Given the description of an element on the screen output the (x, y) to click on. 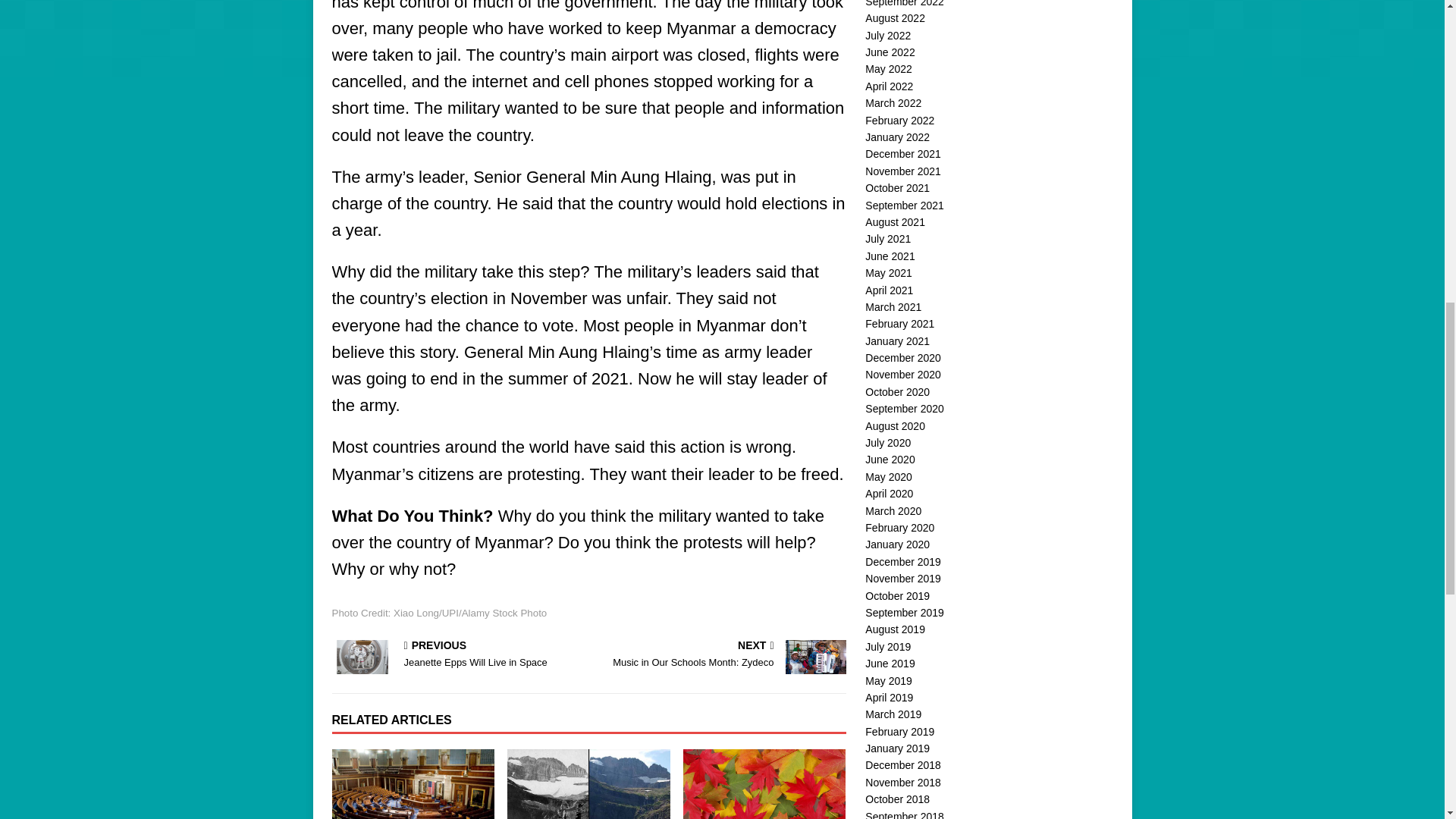
Changing Leaves (763, 784)
The 118th Congress Begins in January (413, 784)
Blackfeet Nation Addresses Climate Change (720, 654)
